Given the description of an element on the screen output the (x, y) to click on. 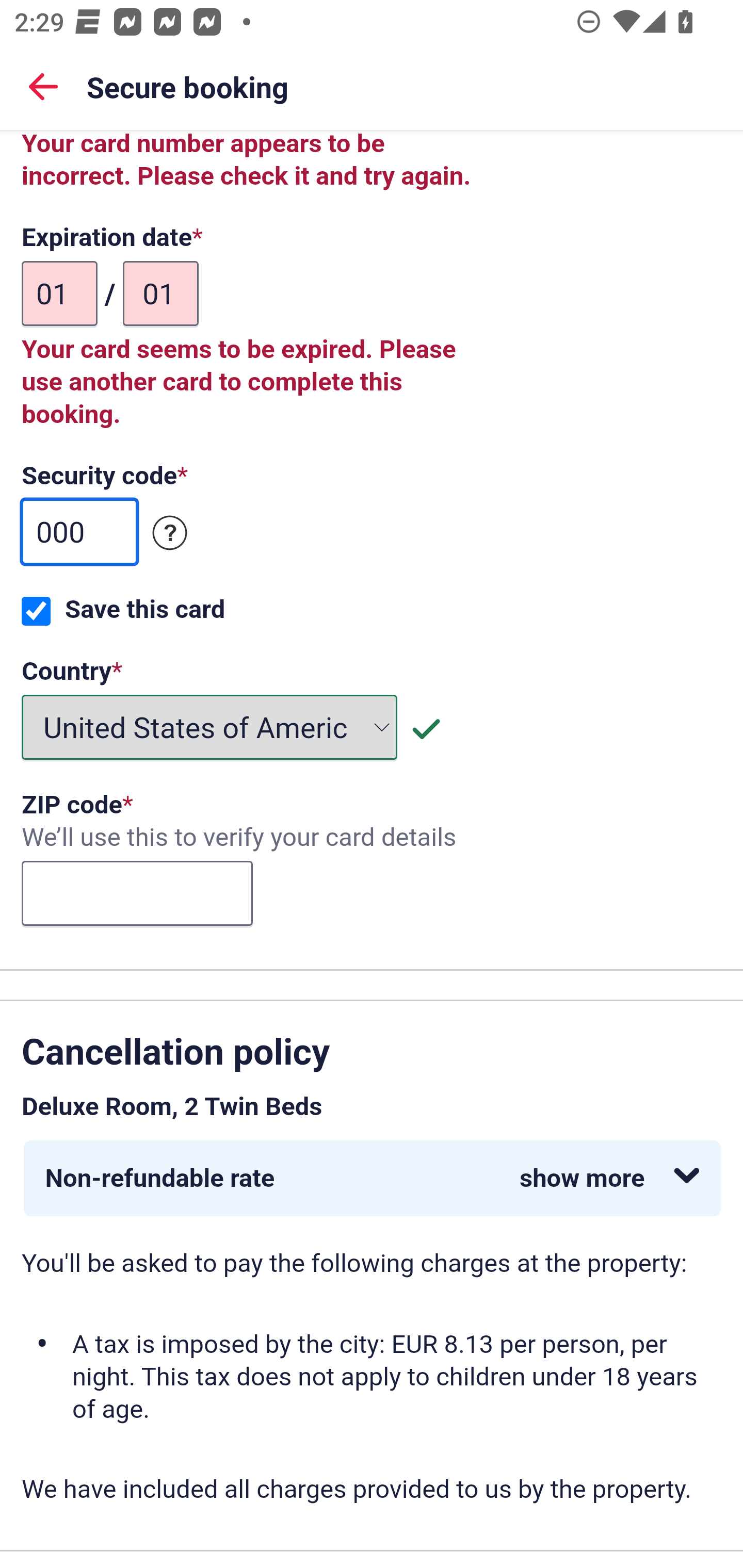
Back (43, 86)
01 (59, 294)
01 (159, 294)
000 (79, 532)
Security code (170, 532)
Save this card (36, 611)
United States of America (209, 727)
Non-refundable rate (372, 1177)
Non-refundable rate (371, 1177)
